Given the description of an element on the screen output the (x, y) to click on. 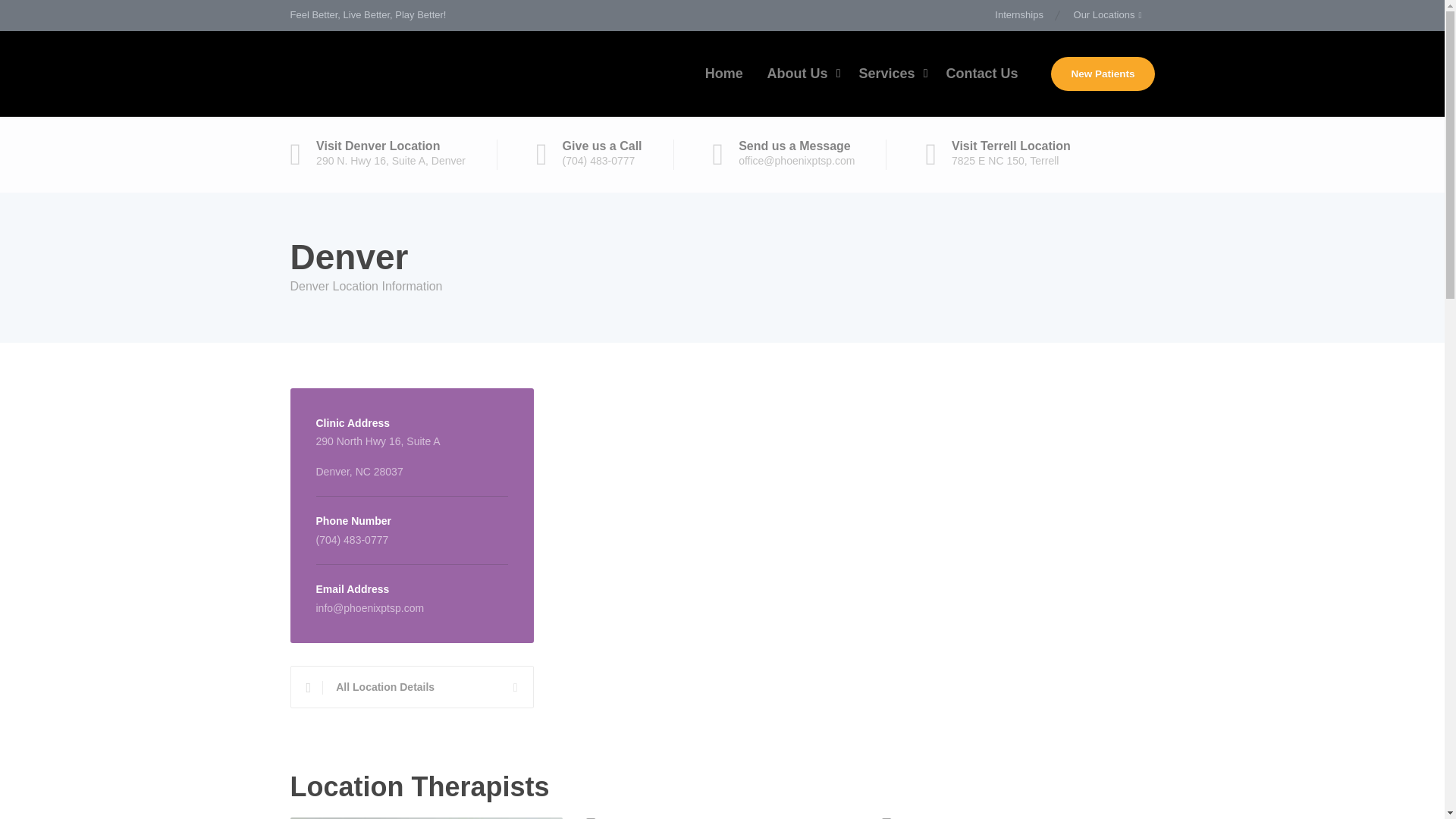
New Patients (1102, 73)
Contact Us (980, 74)
Services (889, 74)
All Location Details (410, 686)
Internships (1026, 15)
Our Locations (1107, 15)
About Us (801, 74)
